Given the description of an element on the screen output the (x, y) to click on. 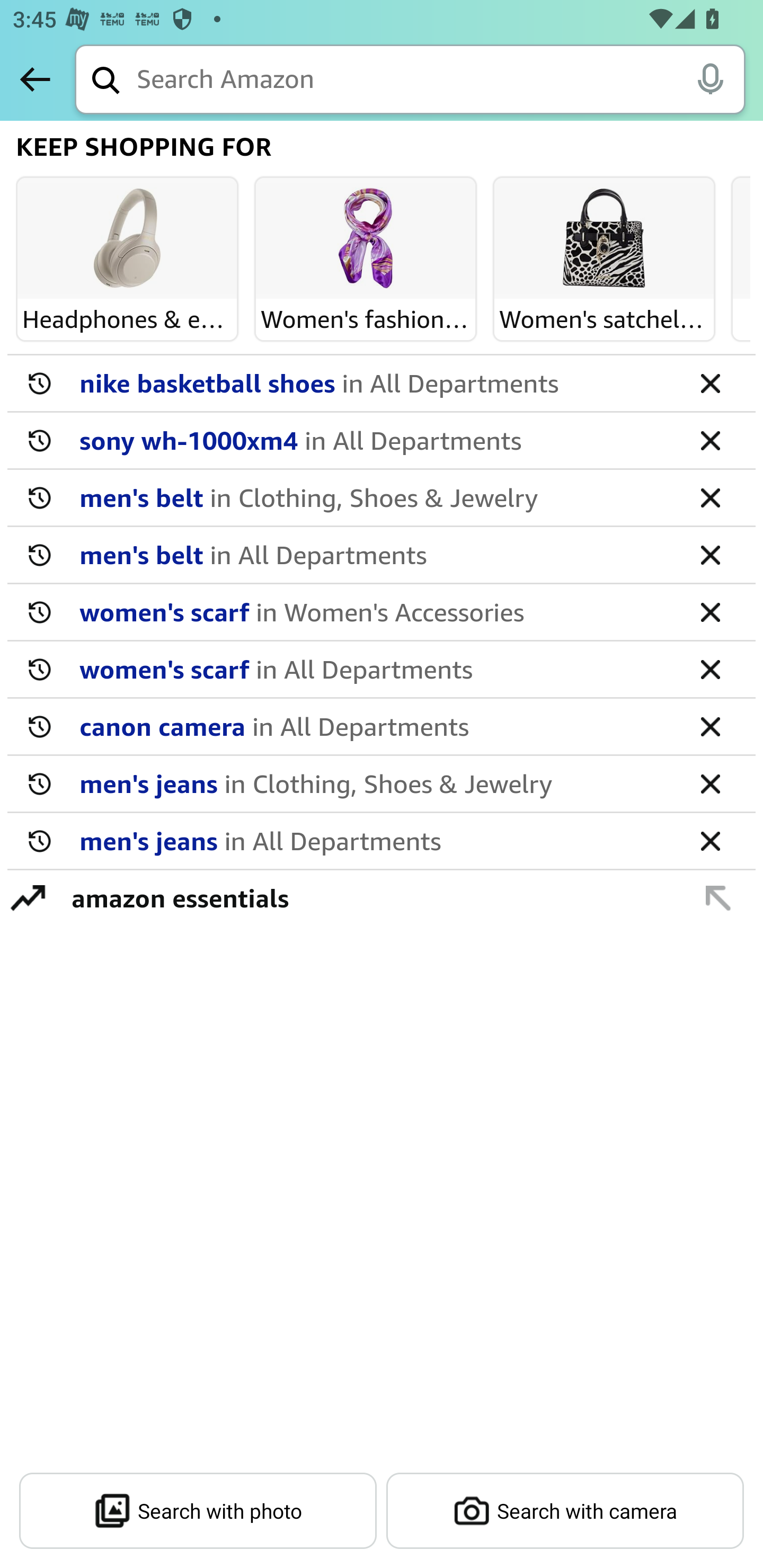
Search Amazon (440, 80)
Back (35, 78)
Alexa (710, 78)
Headphones & earbuds (126, 238)
Women's fashion scarves (365, 238)
Women's satchel handbags (603, 238)
nike basketball shoes delete (381, 383)
nike basketball shoes (374, 382)
delete (710, 382)
sony wh-1000xm4 delete (381, 440)
sony wh-1000xm4 (374, 439)
delete (710, 439)
men's belt delete (381, 497)
men's belt (374, 496)
delete (710, 496)
men's belt delete (381, 554)
men's belt (374, 554)
delete (710, 554)
women's scarf delete (381, 612)
women's scarf (374, 611)
delete (710, 611)
women's scarf delete (381, 669)
women's scarf (374, 668)
delete (710, 668)
canon camera delete (381, 726)
canon camera (374, 725)
delete (710, 725)
men's jeans delete (381, 783)
men's jeans (374, 783)
delete (710, 783)
men's jeans delete (381, 841)
men's jeans (374, 840)
delete (710, 840)
amazon essentials append suggestion (381, 897)
amazon essentials (370, 897)
append suggestion (718, 897)
Search with photo (197, 1510)
Search with camera (564, 1510)
